Given the description of an element on the screen output the (x, y) to click on. 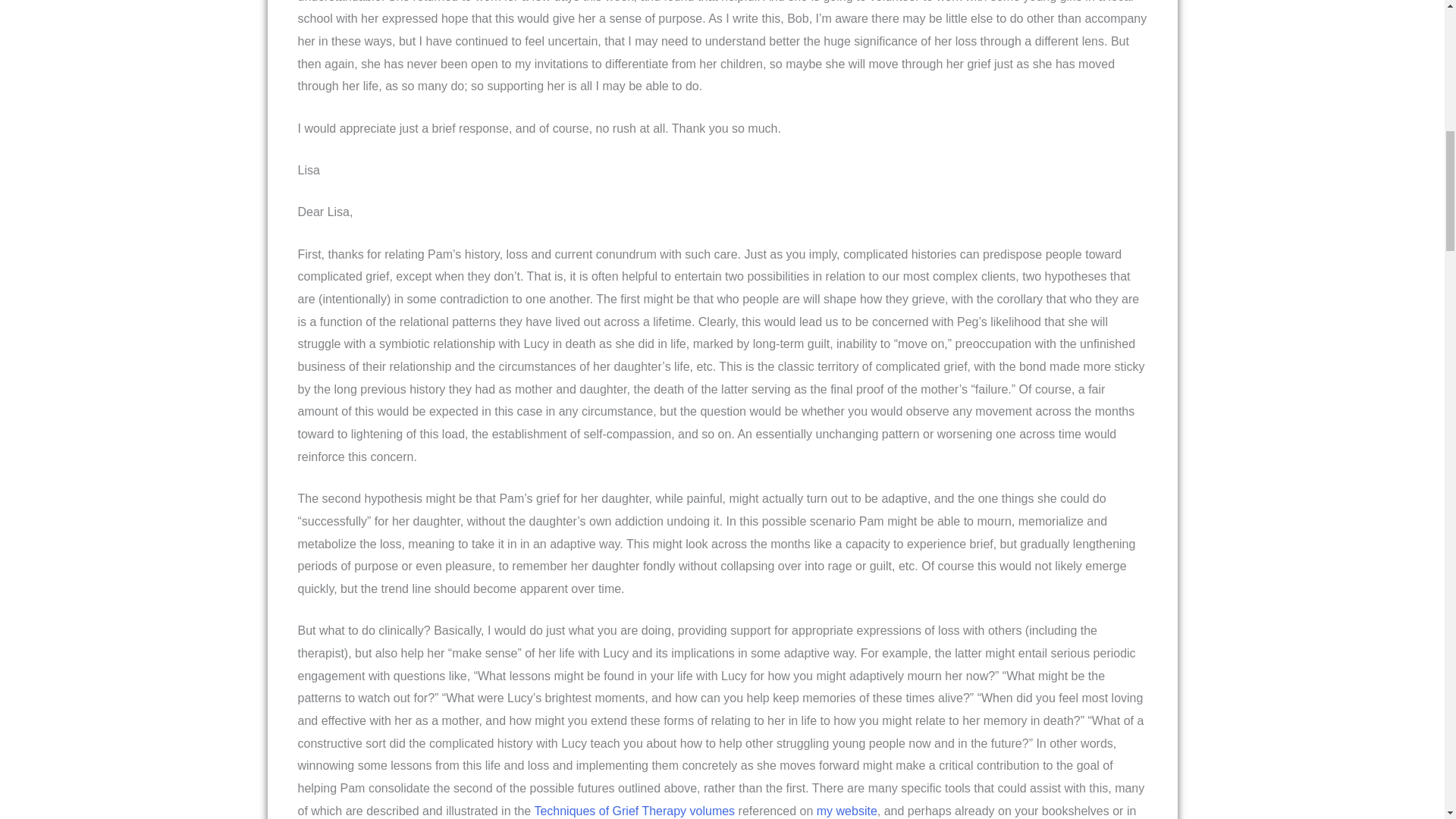
Techniques of Grief Therapy volumes (634, 810)
my website (846, 810)
